Given the description of an element on the screen output the (x, y) to click on. 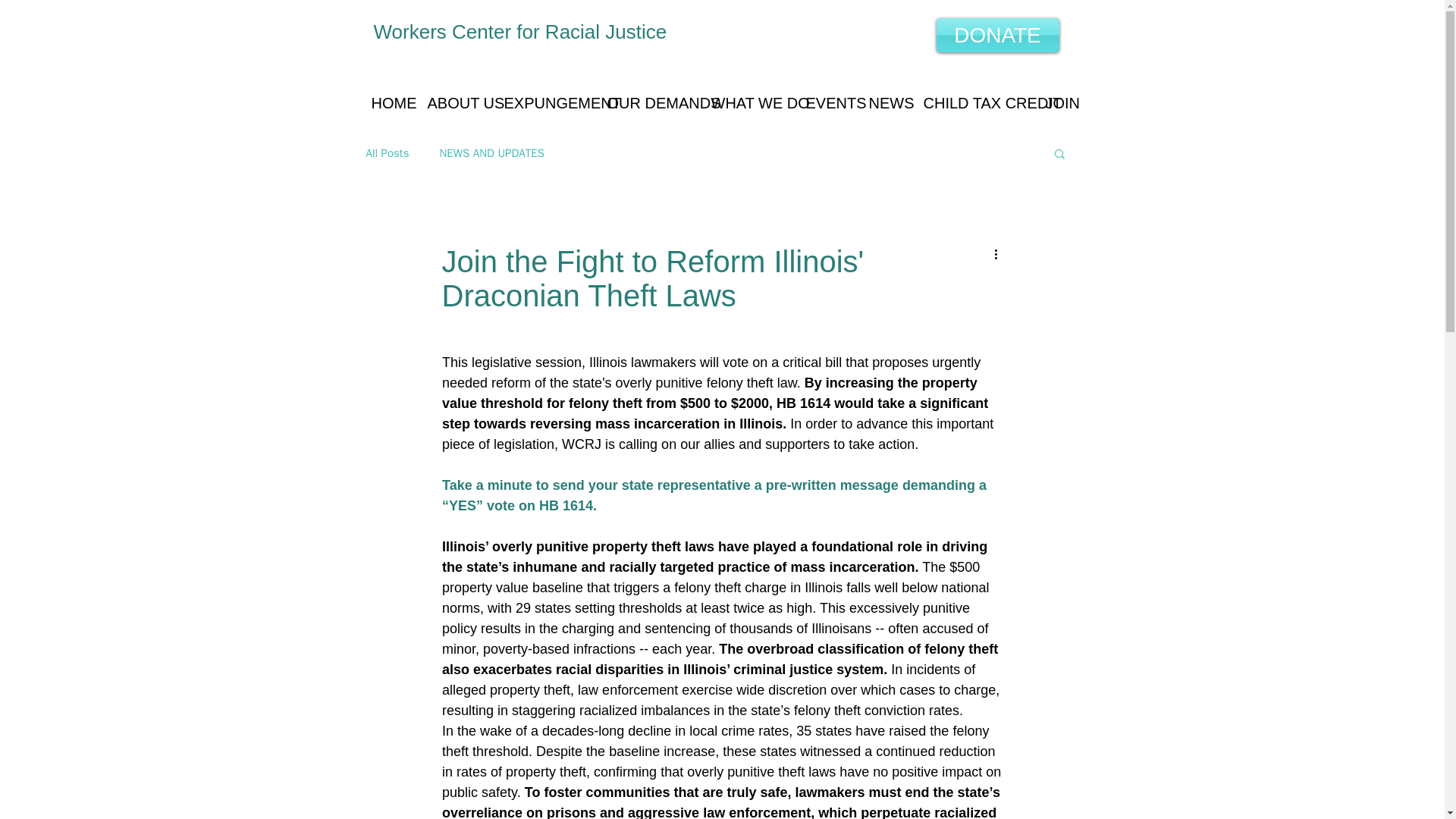
CHILD TAX CREDIT (972, 99)
NEWS AND UPDATES (491, 152)
OUR DEMANDS (647, 99)
All Posts (387, 152)
JOIN (1058, 99)
DONATE (997, 35)
EVENTS (825, 99)
HOME (386, 99)
WHAT WE DO (745, 99)
NEWS (884, 99)
